Given the description of an element on the screen output the (x, y) to click on. 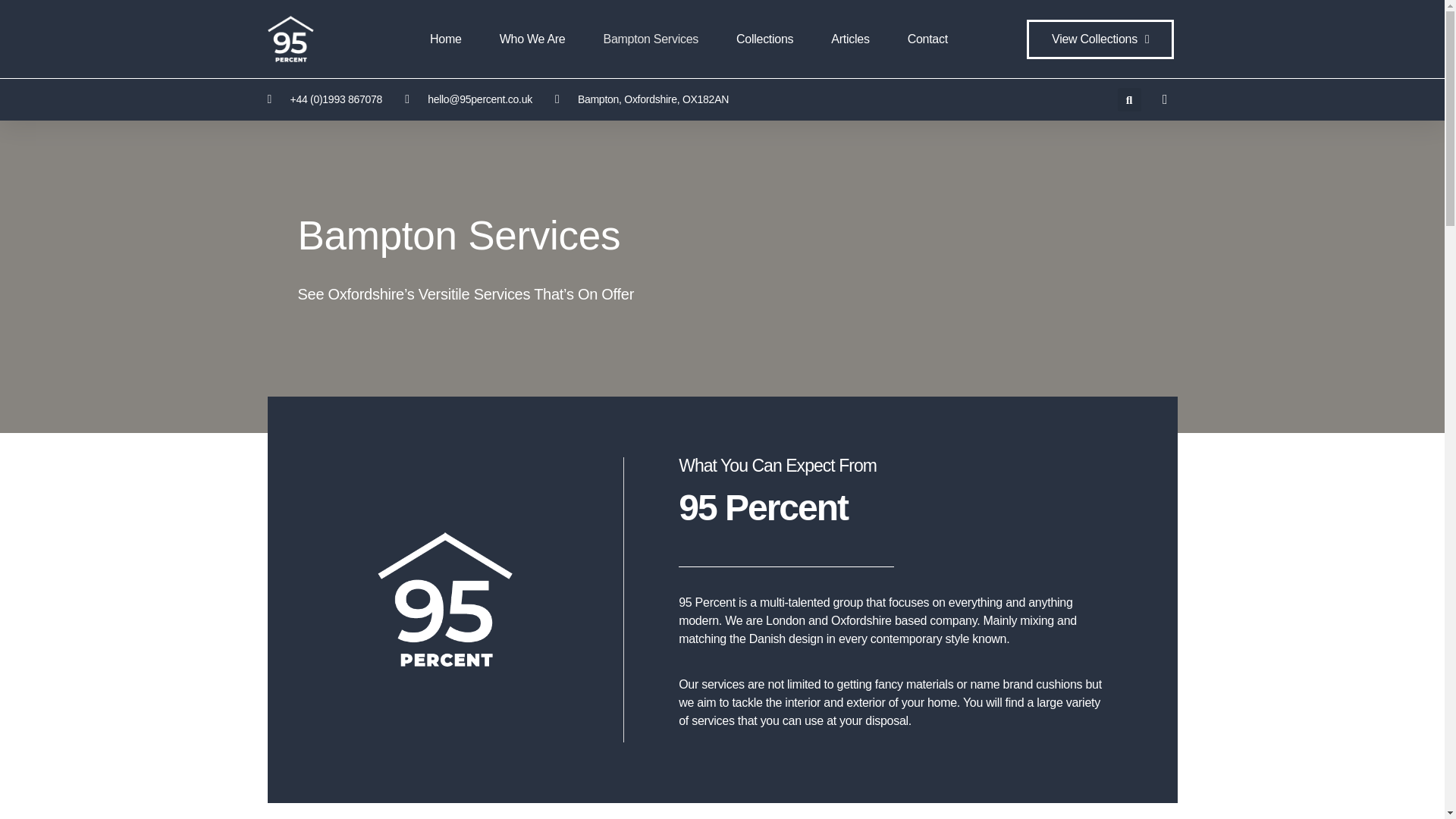
Collections (764, 39)
Articles (850, 39)
View Collections (1099, 38)
Who We Are (532, 39)
Contact (927, 39)
Home (445, 39)
Bampton Services (651, 39)
